Given the description of an element on the screen output the (x, y) to click on. 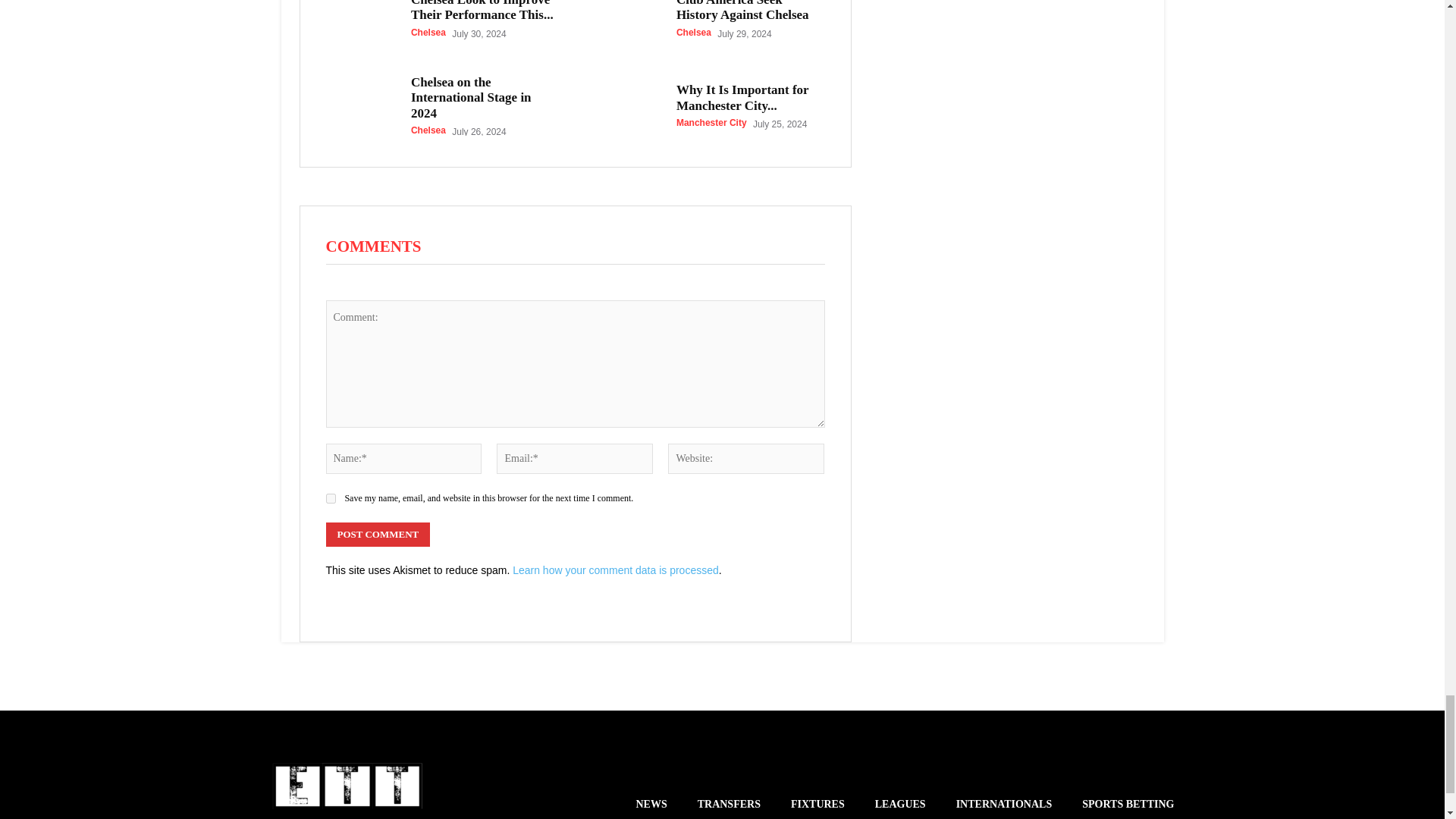
yes (331, 498)
Post Comment (378, 534)
